Given the description of an element on the screen output the (x, y) to click on. 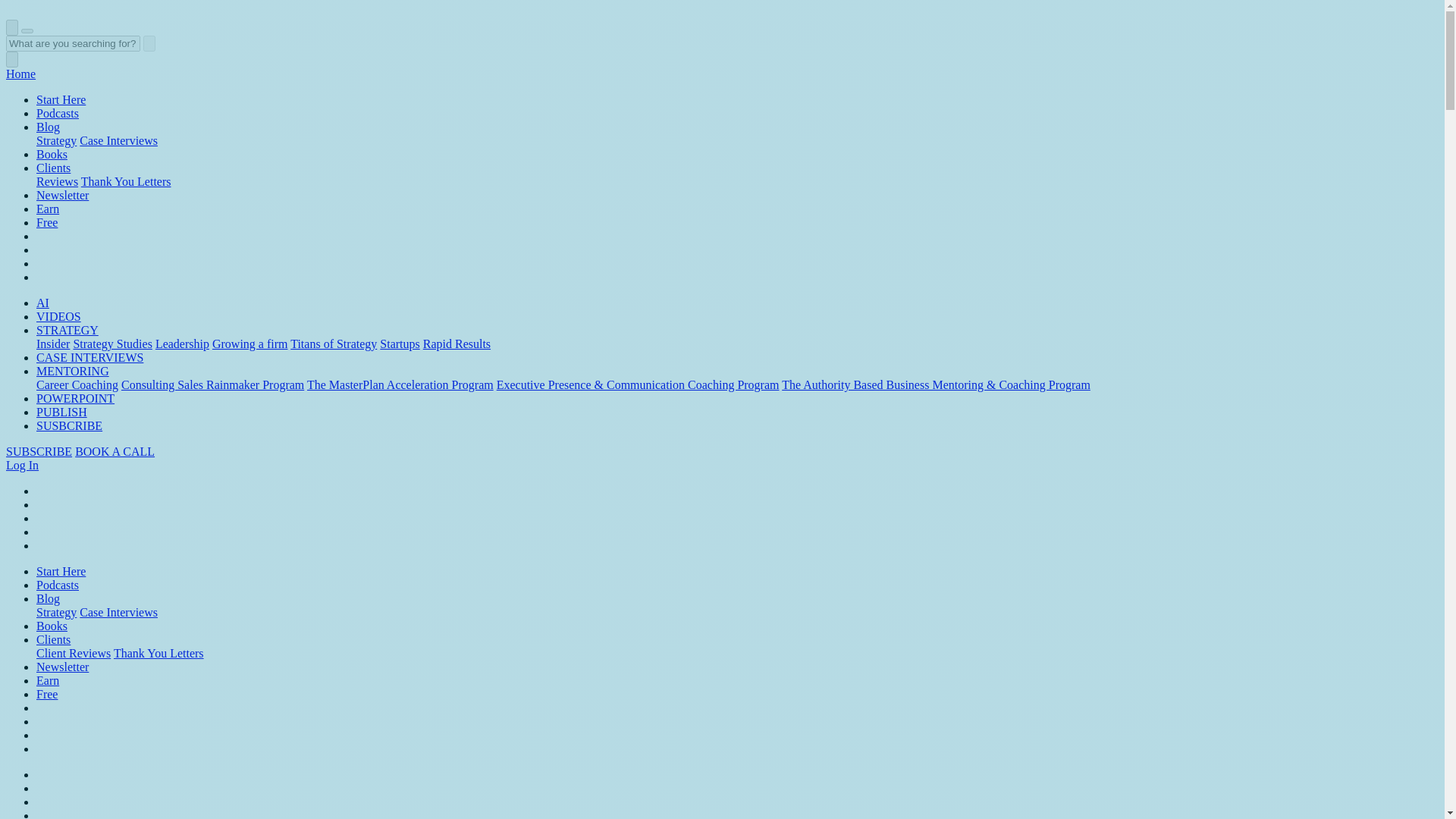
MENTORING (72, 370)
Free (47, 222)
Thank You Letters (126, 181)
Strategy (56, 140)
Home (19, 73)
Podcasts (57, 113)
VIDEOS (58, 316)
Leadership (182, 343)
Strategy (56, 140)
Thank You Letters (126, 181)
